Given the description of an element on the screen output the (x, y) to click on. 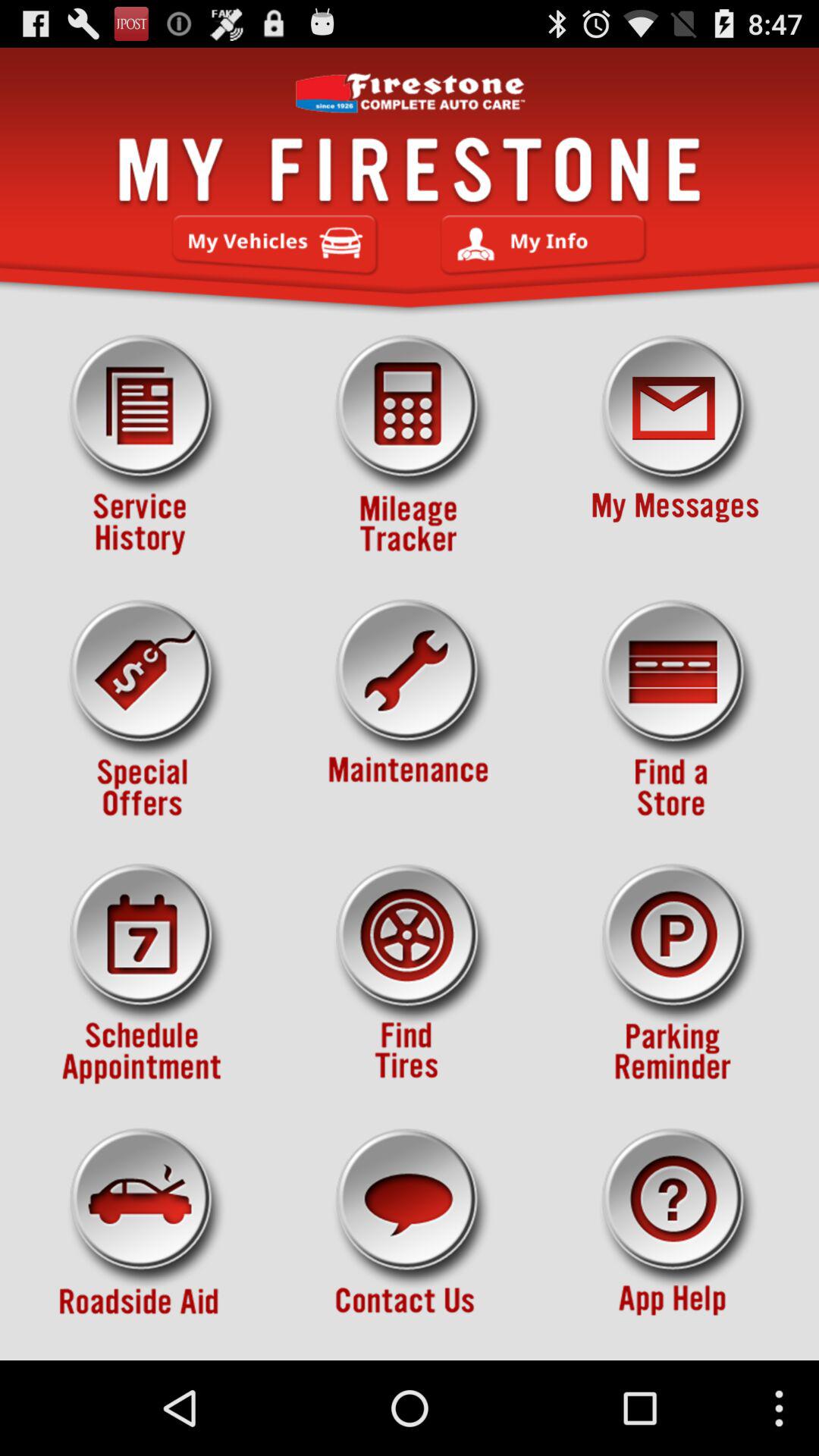
manage the tires lifetime (409, 445)
